Given the description of an element on the screen output the (x, y) to click on. 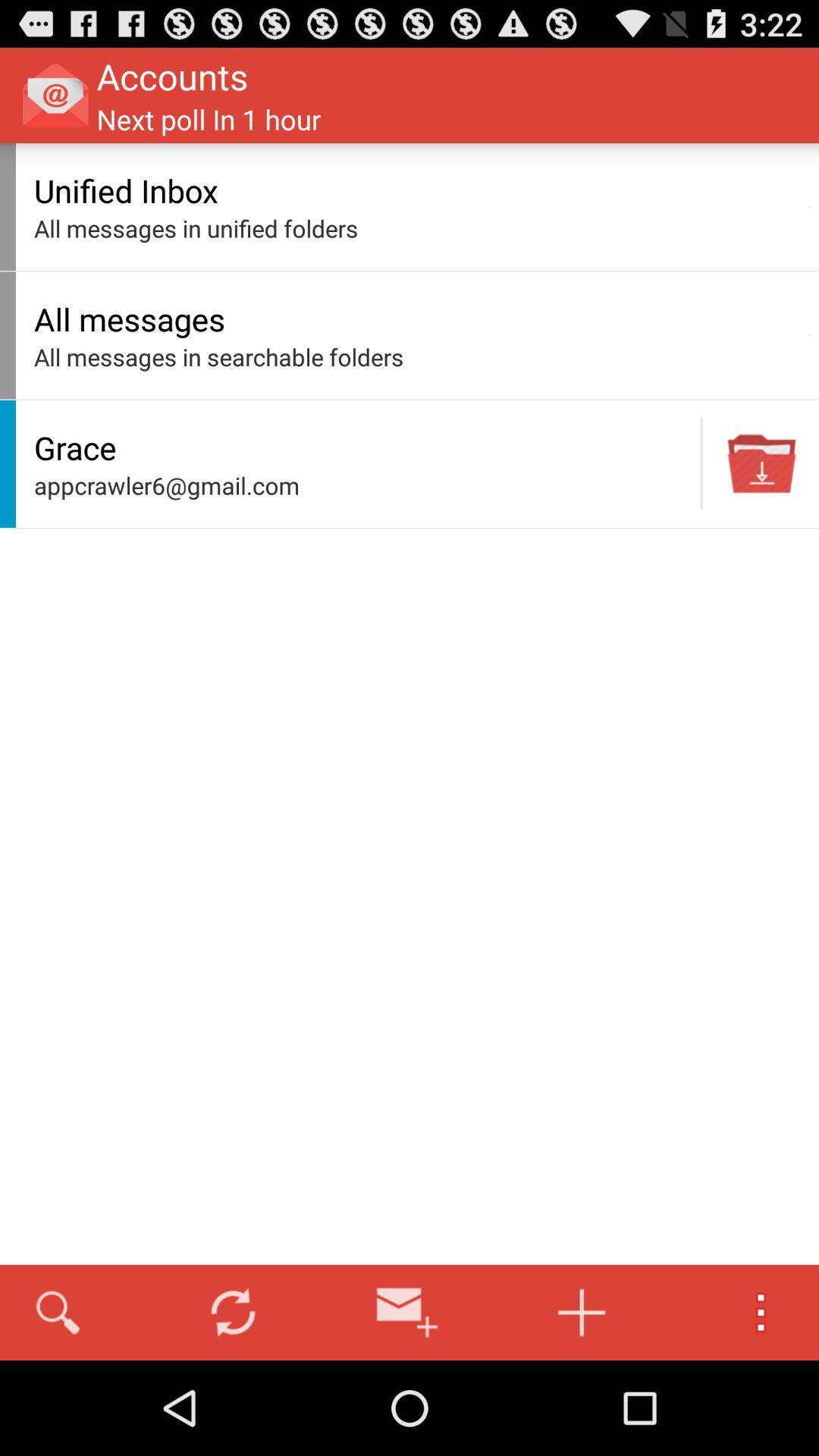
turn off the app to the right of the unified inbox app (809, 206)
